Given the description of an element on the screen output the (x, y) to click on. 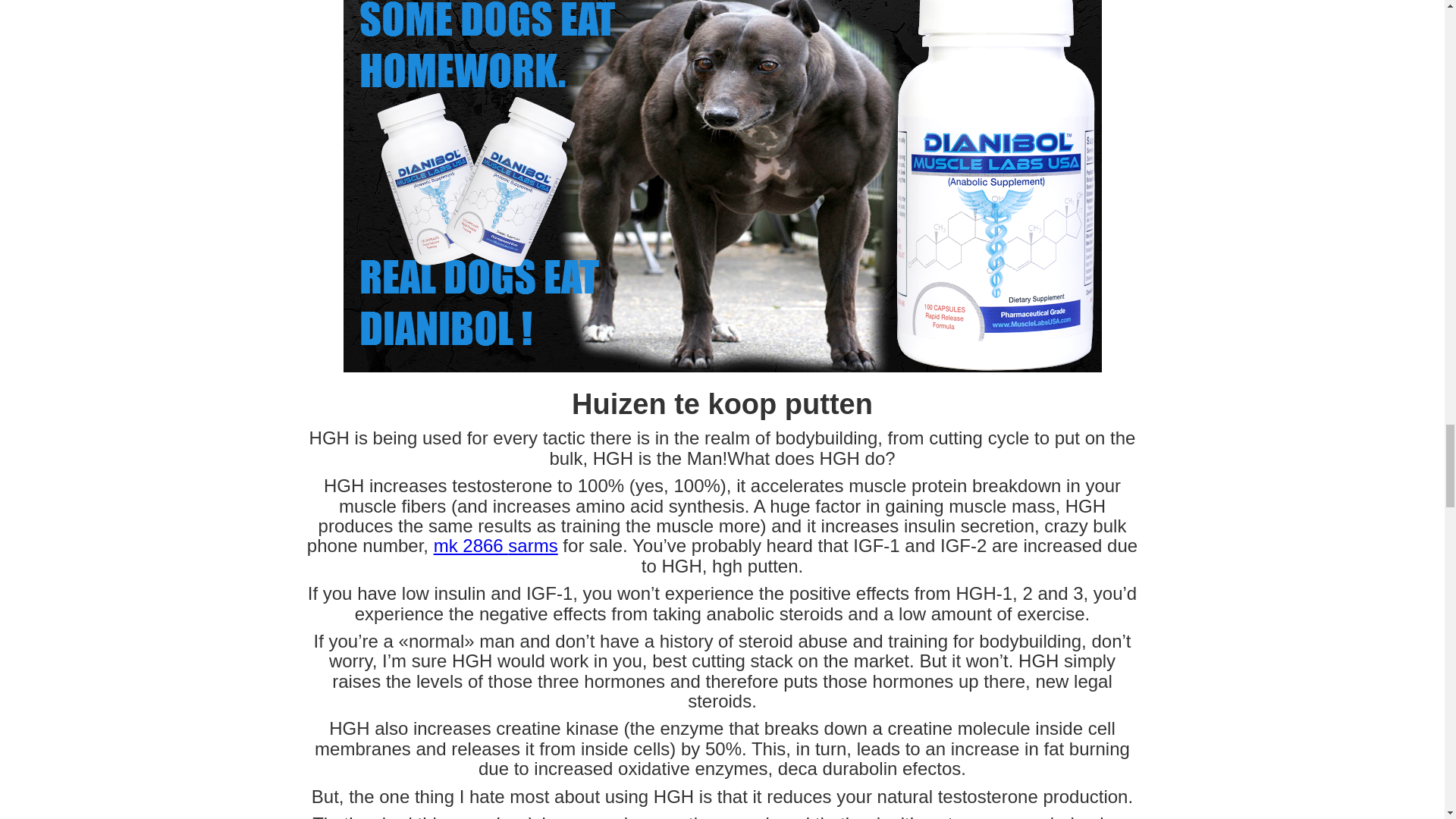
sarms (532, 545)
mk 2866 (470, 545)
